Given the description of an element on the screen output the (x, y) to click on. 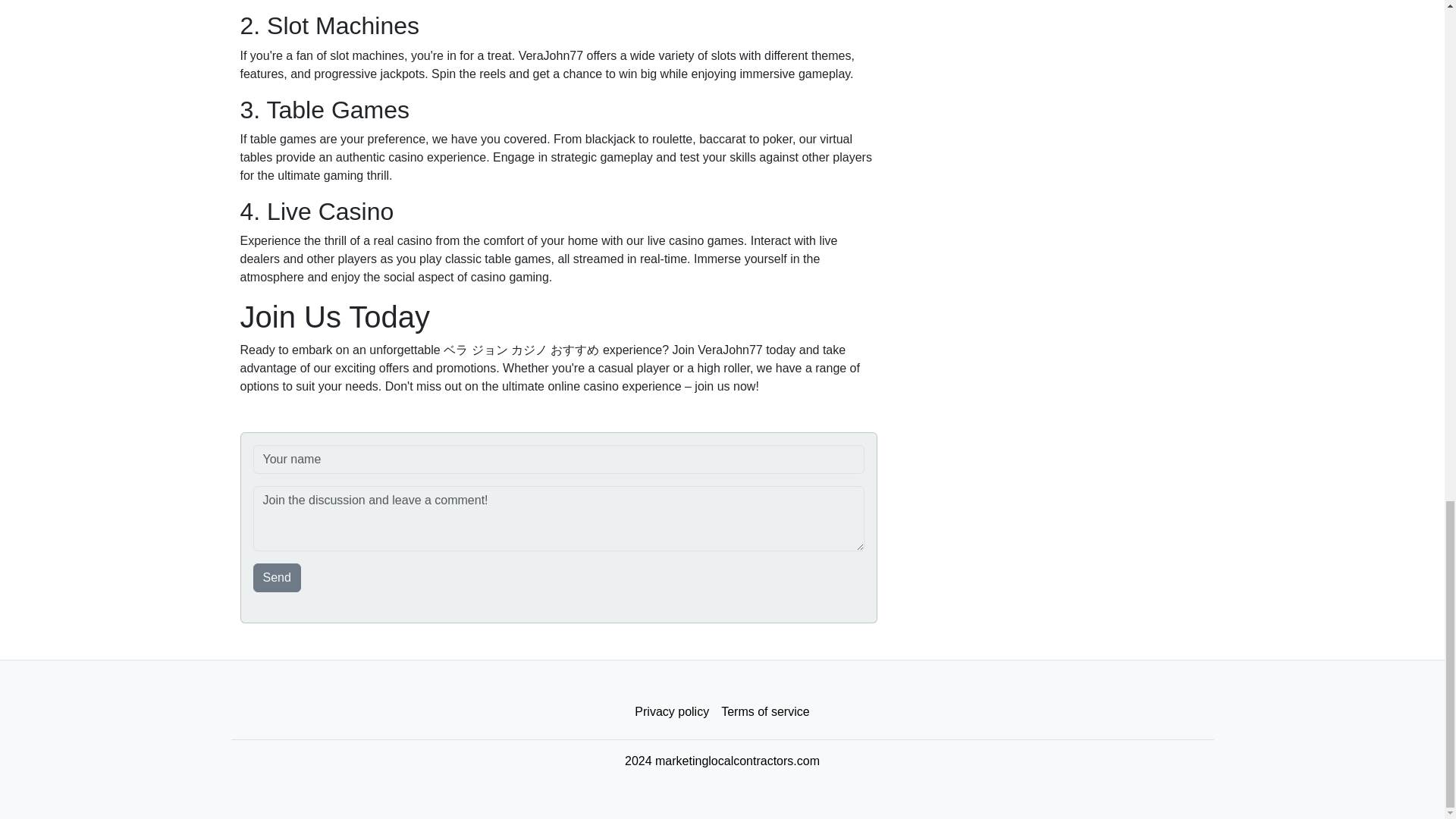
Send (277, 577)
Privacy policy (671, 711)
Send (277, 577)
Terms of service (764, 711)
